Given the description of an element on the screen output the (x, y) to click on. 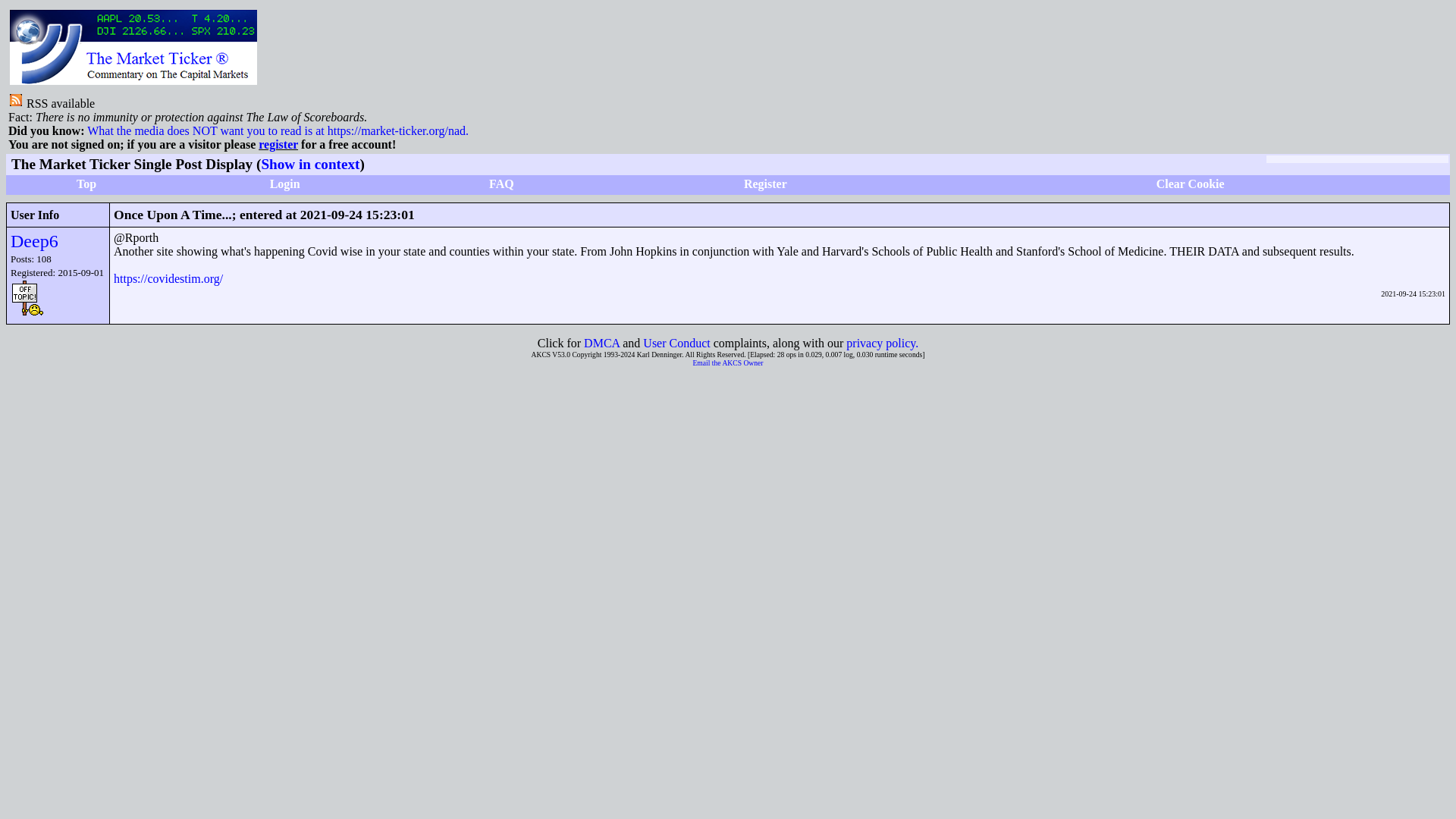
FAQ (501, 183)
Deep6 (34, 240)
Login (284, 183)
Register (765, 183)
Top (86, 183)
privacy policy. (881, 342)
Show in context (309, 163)
register (278, 144)
User Conduct (676, 342)
DMCA (601, 342)
Clear Cookie (1190, 183)
